Given the description of an element on the screen output the (x, y) to click on. 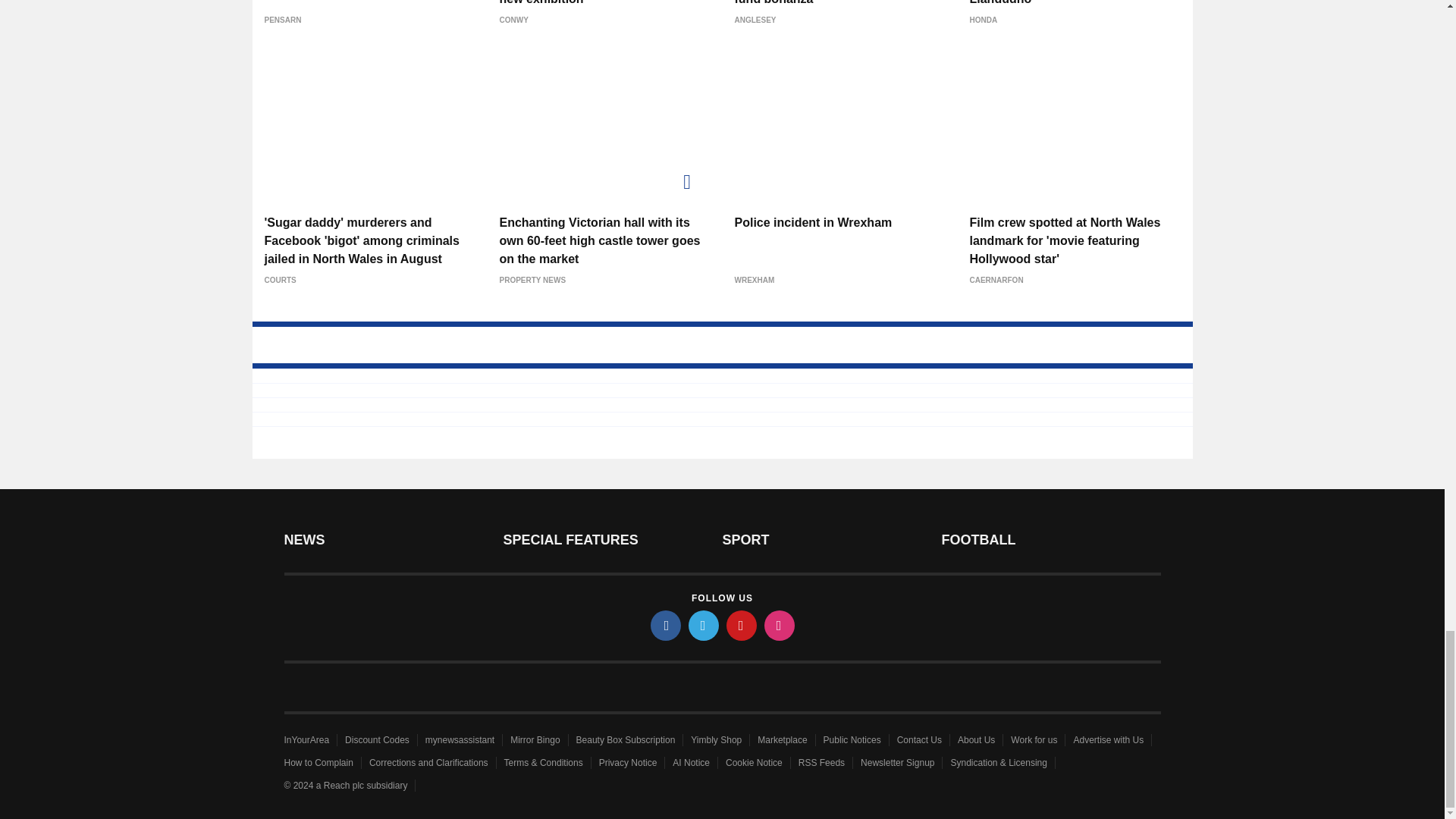
twitter (703, 625)
instagram (779, 625)
facebook (665, 625)
pinterest (741, 625)
